Given the description of an element on the screen output the (x, y) to click on. 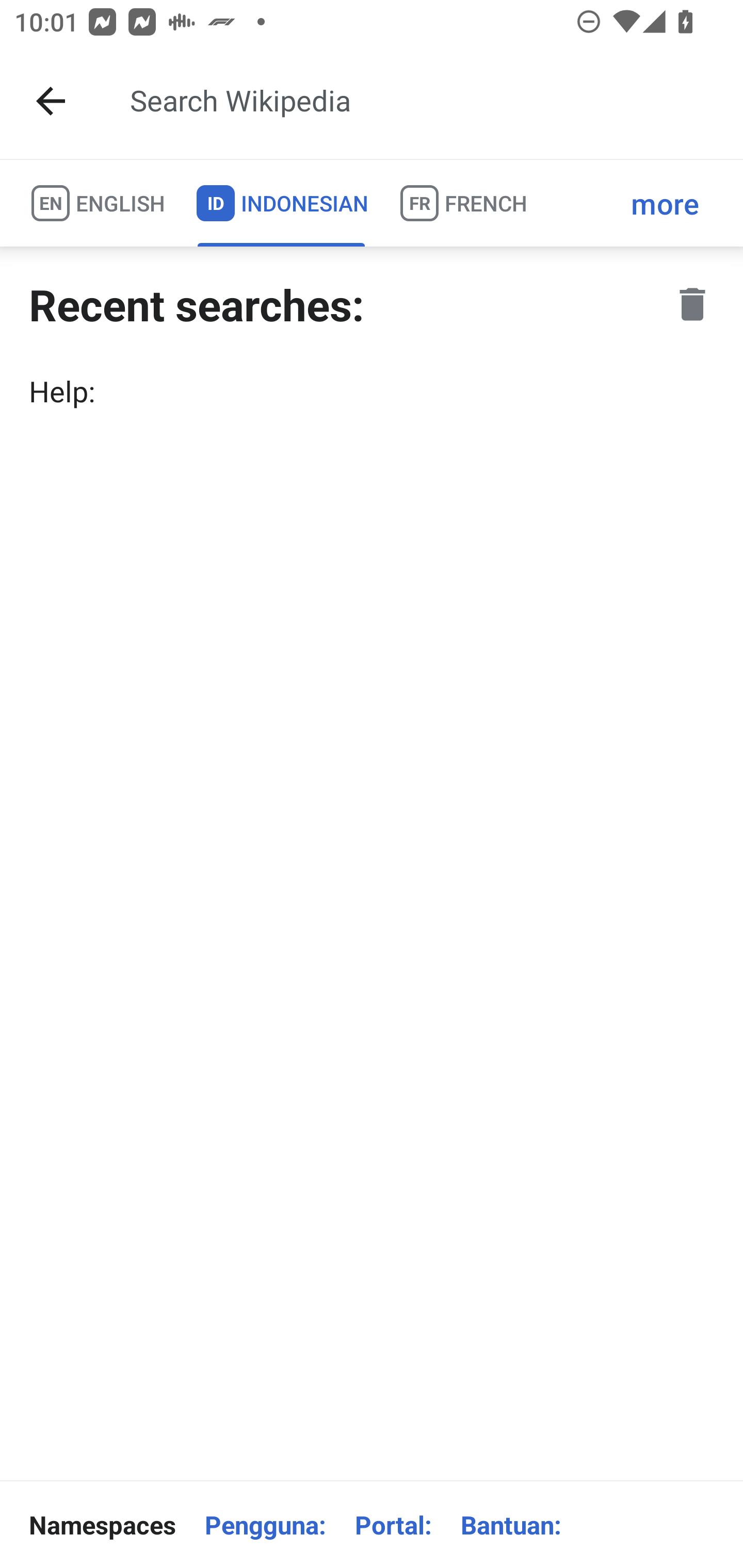
Navigate up (50, 101)
Search Wikipedia (420, 100)
EN ENGLISH (96, 202)
FR FRENCH (462, 202)
more (664, 202)
Clear history (692, 304)
Help: (371, 391)
Namespaces (102, 1524)
Pengguna: (265, 1524)
Portal: (393, 1524)
Bantuan: (510, 1524)
